Given the description of an element on the screen output the (x, y) to click on. 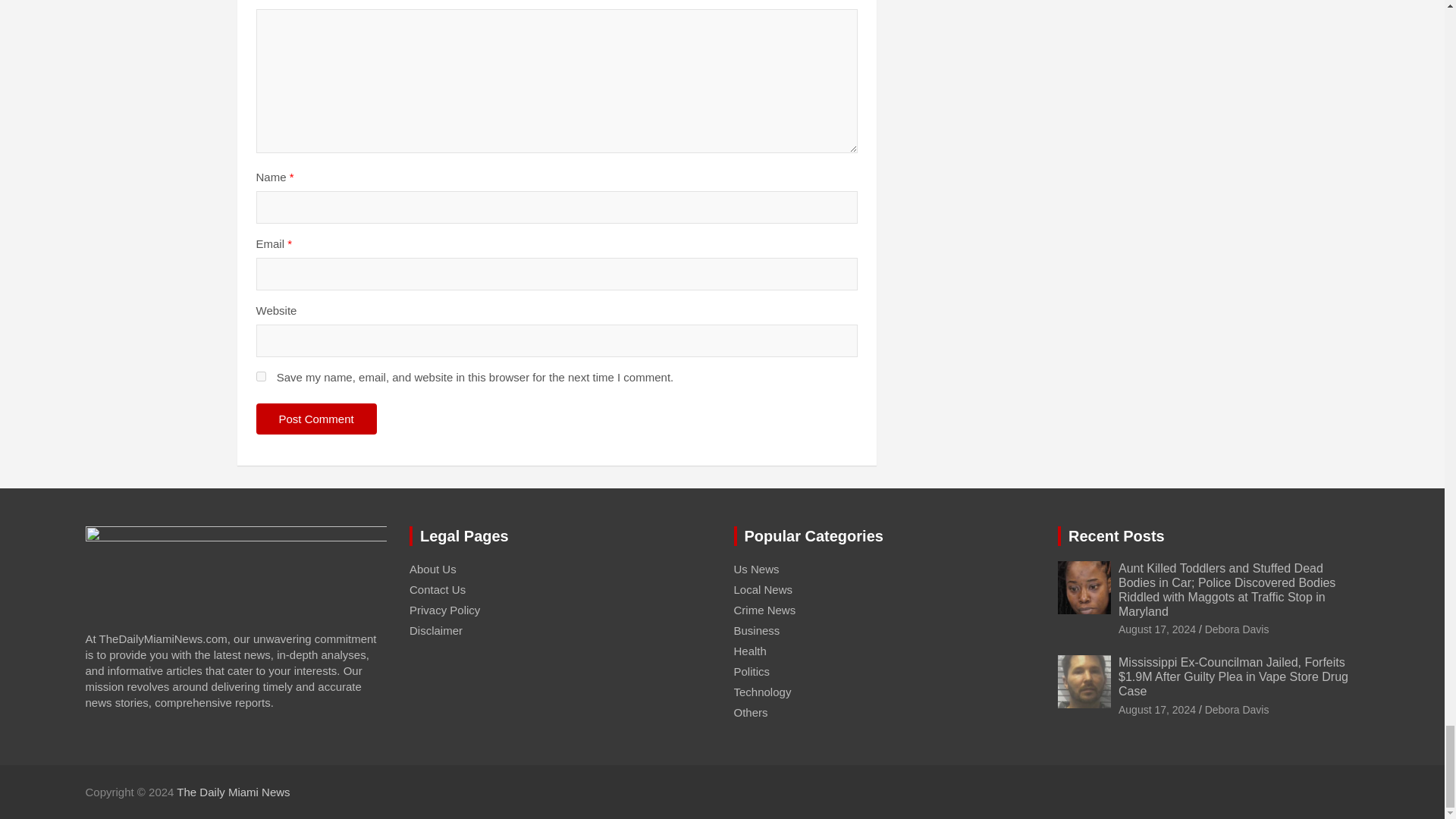
yes (261, 376)
Post Comment (316, 418)
Post Comment (316, 418)
The Daily Miami News (232, 791)
